Given the description of an element on the screen output the (x, y) to click on. 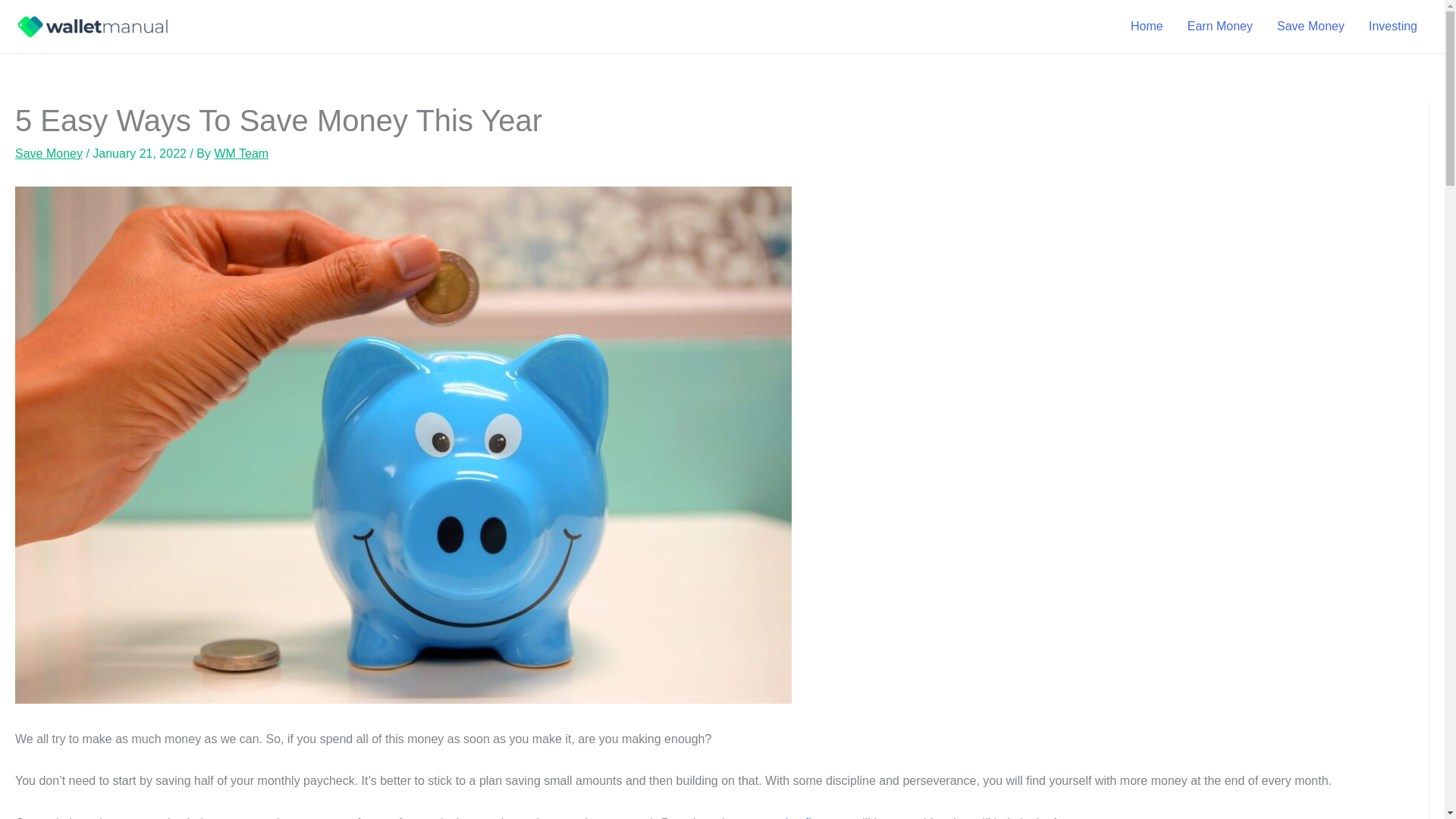
Save Money (1310, 26)
managing finances (799, 817)
Home (1146, 26)
View all posts by WM Team (240, 153)
Earn Money (1219, 26)
Investing (1392, 26)
WM Team (240, 153)
Save Money (48, 153)
